Given the description of an element on the screen output the (x, y) to click on. 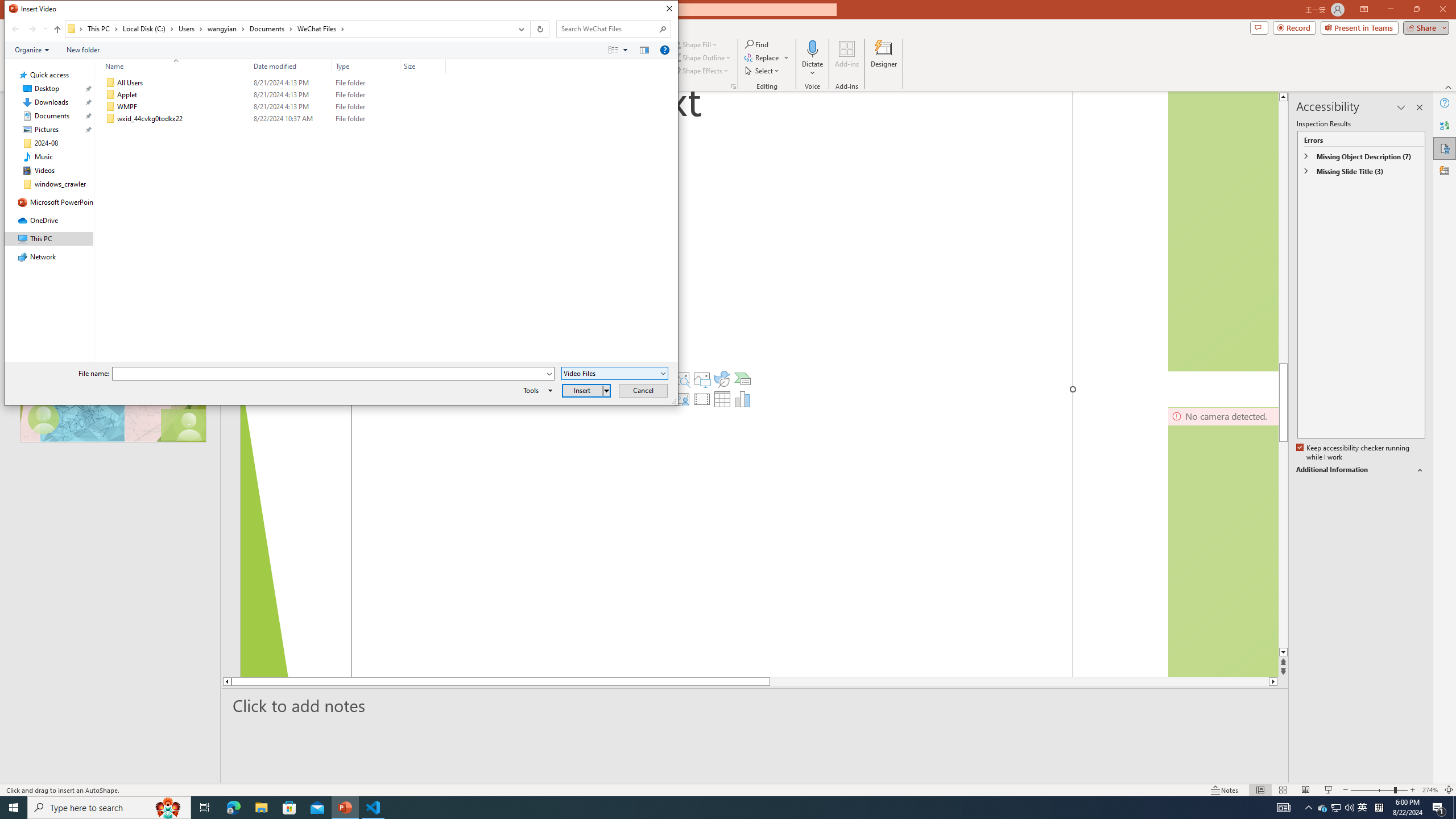
Refresh "WeChat Files" (F5) (538, 28)
New folder (82, 49)
Address band toolbar (529, 28)
Camera 5, No camera detected. (1222, 231)
Address: C:\Users\wangyian\Documents\WeChat Files (288, 28)
